Given the description of an element on the screen output the (x, y) to click on. 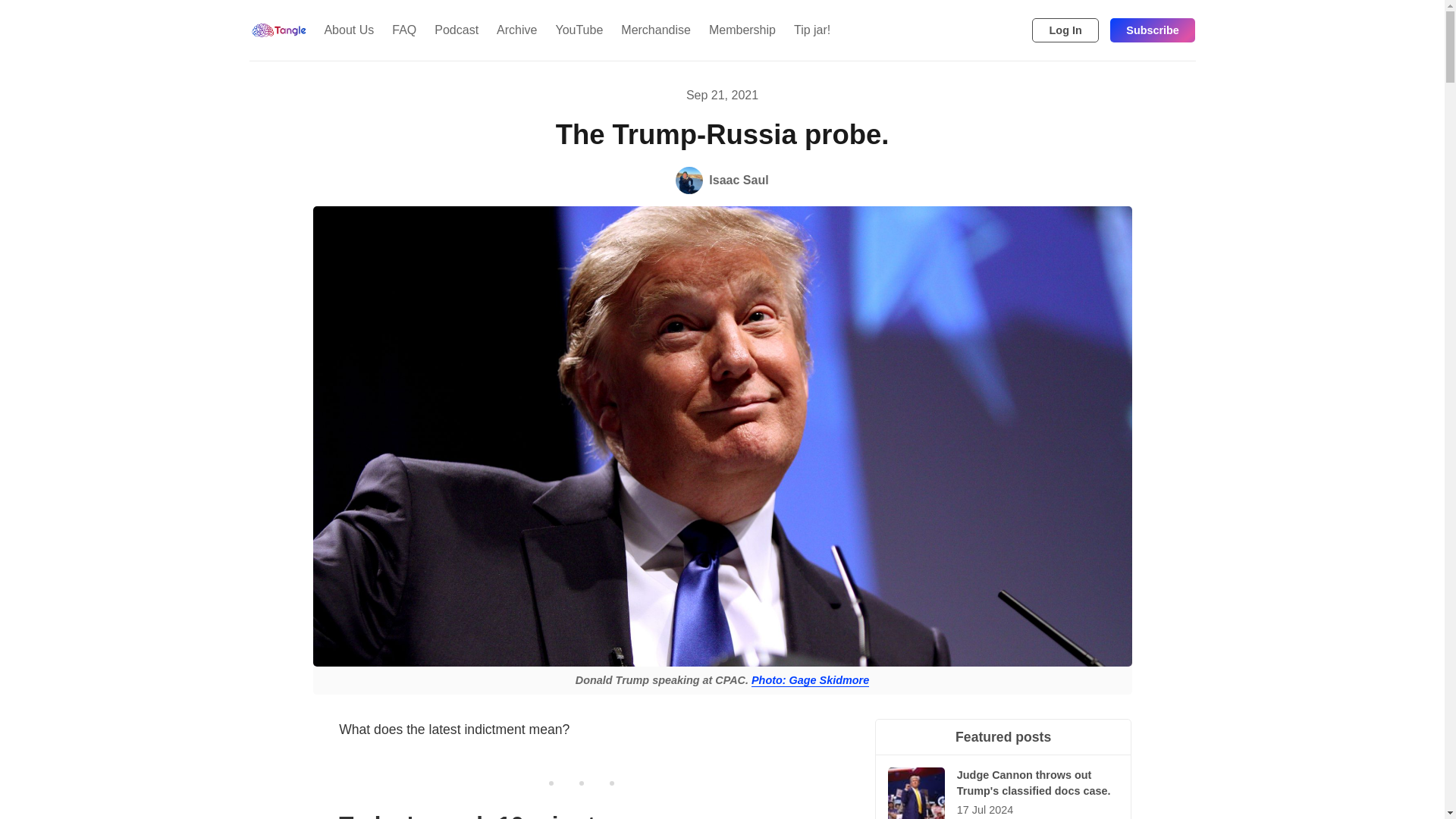
Isaac Saul (721, 180)
Log In (1065, 30)
Theme Toggle (990, 30)
Podcast (456, 29)
Merchandise (655, 29)
FAQ (403, 29)
Photo: Gage Skidmore (810, 680)
YouTube (578, 29)
Tip jar! (812, 29)
Membership (742, 29)
Search (1014, 30)
About Us (348, 29)
Subscribe (1152, 30)
Archive (516, 29)
